Given the description of an element on the screen output the (x, y) to click on. 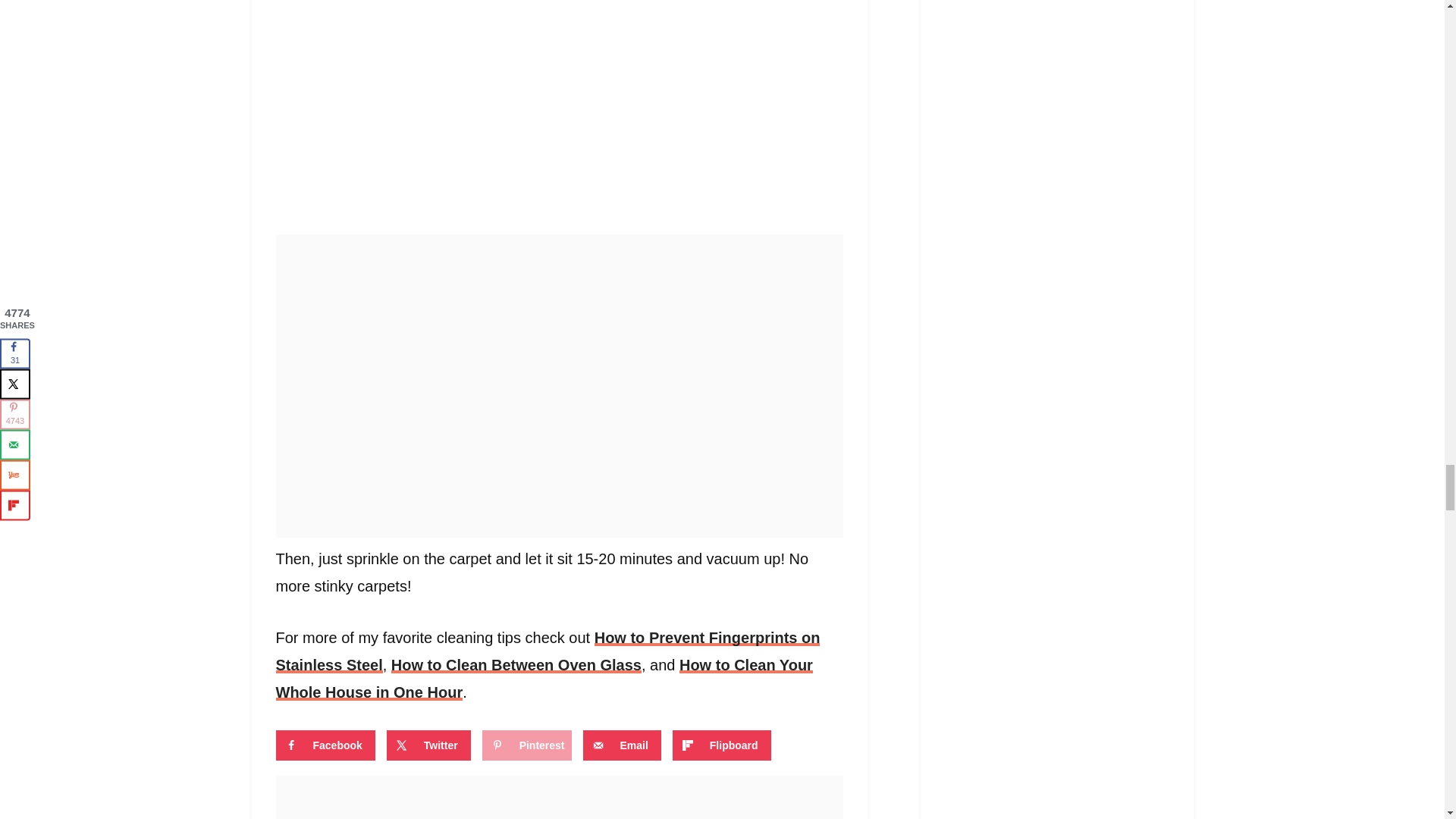
Email (621, 745)
How to Clean Between Oven Glass (516, 664)
Share on Facebook (325, 745)
Save to Pinterest (526, 745)
Share on X (428, 745)
Pinterest (526, 745)
Twitter (428, 745)
How to Clean Oven Glass-Inside, Outside, and In Between! (516, 664)
Flipboard (721, 745)
Facebook (325, 745)
